Given the description of an element on the screen output the (x, y) to click on. 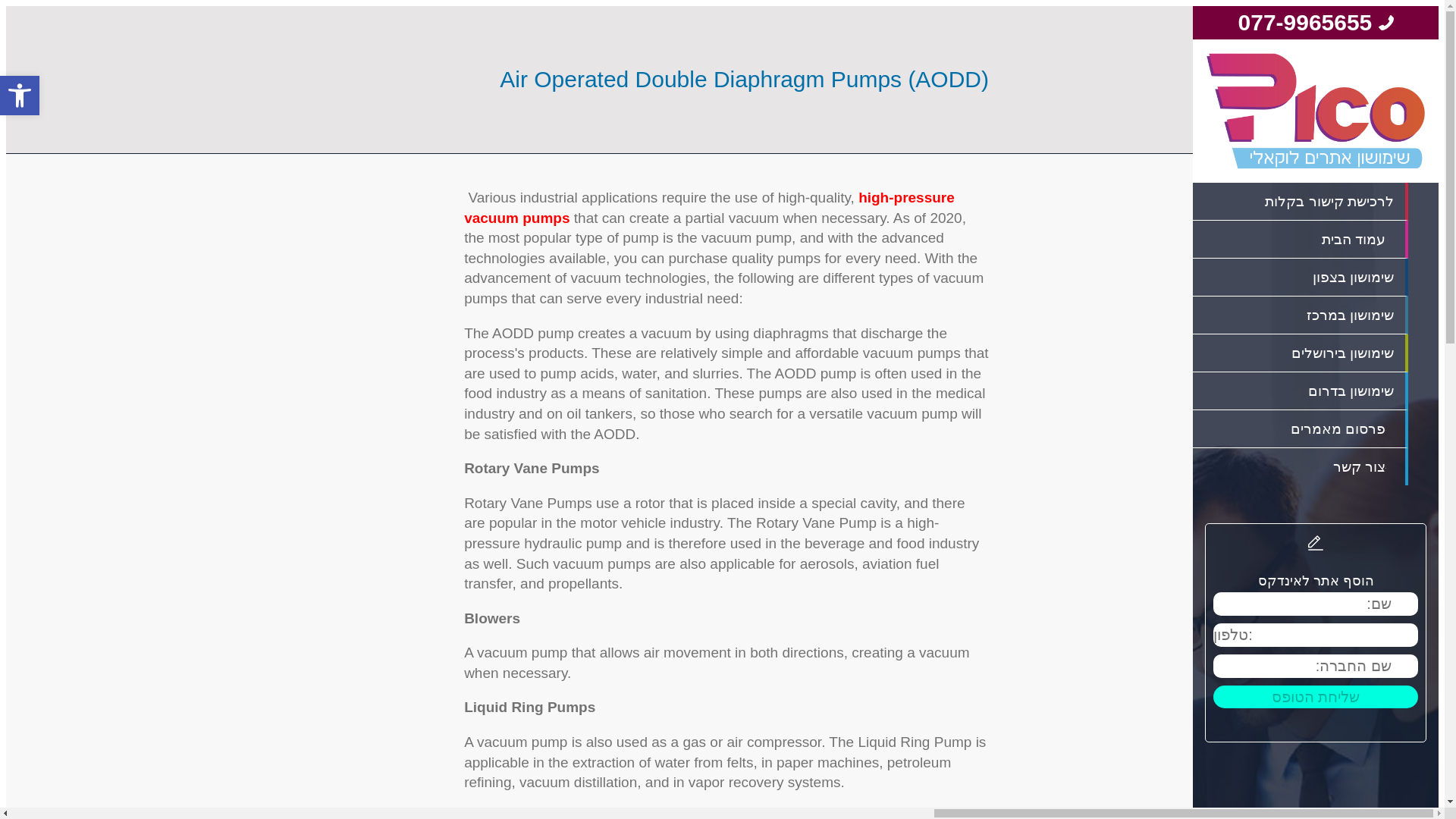
high-pressure vacuum pumps (709, 207)
077-9965655 (1306, 22)
